Given the description of an element on the screen output the (x, y) to click on. 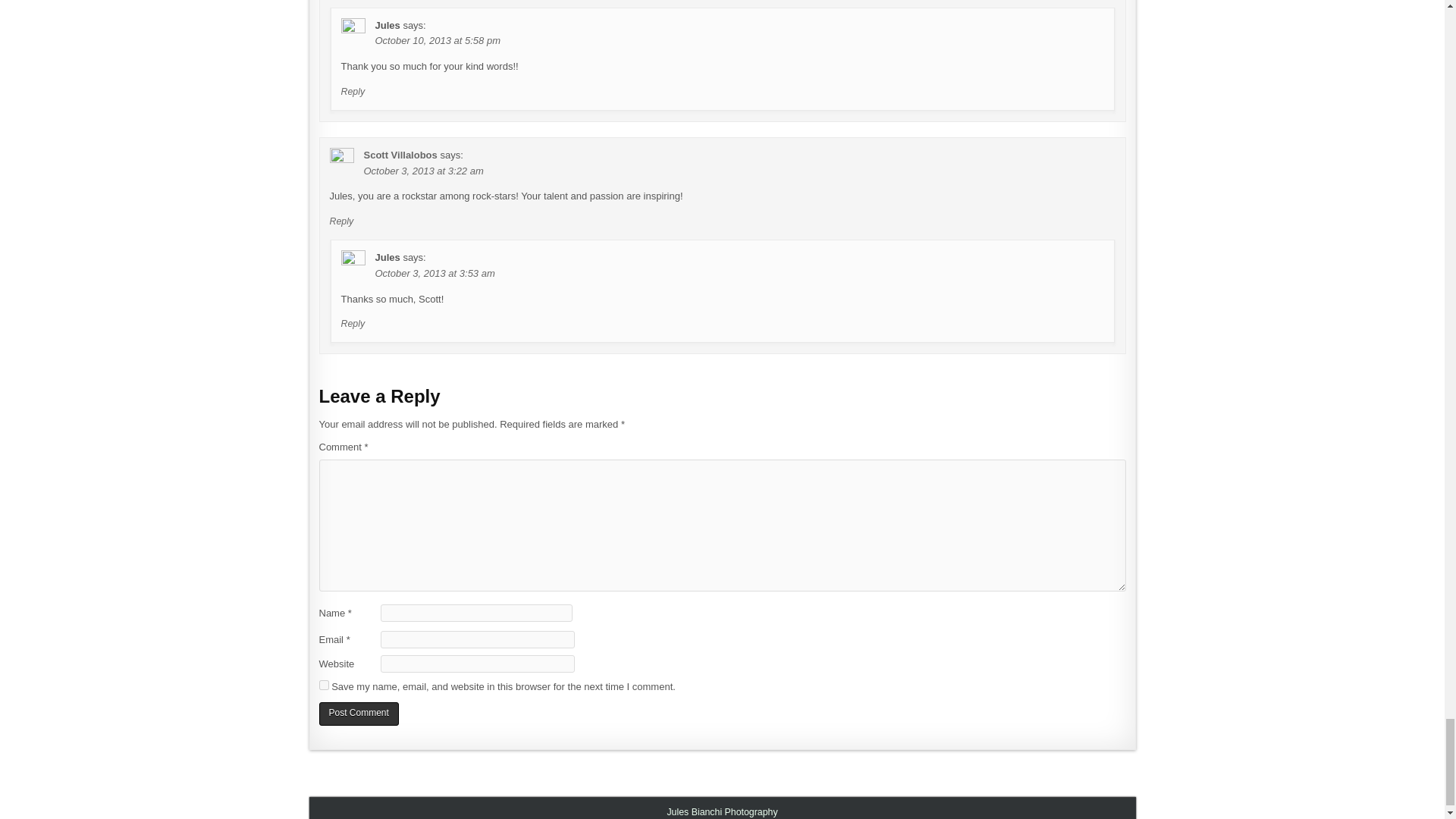
Reply (352, 91)
October 3, 2013 at 3:53 am (434, 273)
Scott Villalobos (401, 154)
October 3, 2013 at 3:22 am (423, 170)
Post Comment (357, 713)
Post Comment (357, 713)
Reply (341, 221)
yes (323, 685)
Reply (352, 323)
October 10, 2013 at 5:58 pm (437, 40)
